Given the description of an element on the screen output the (x, y) to click on. 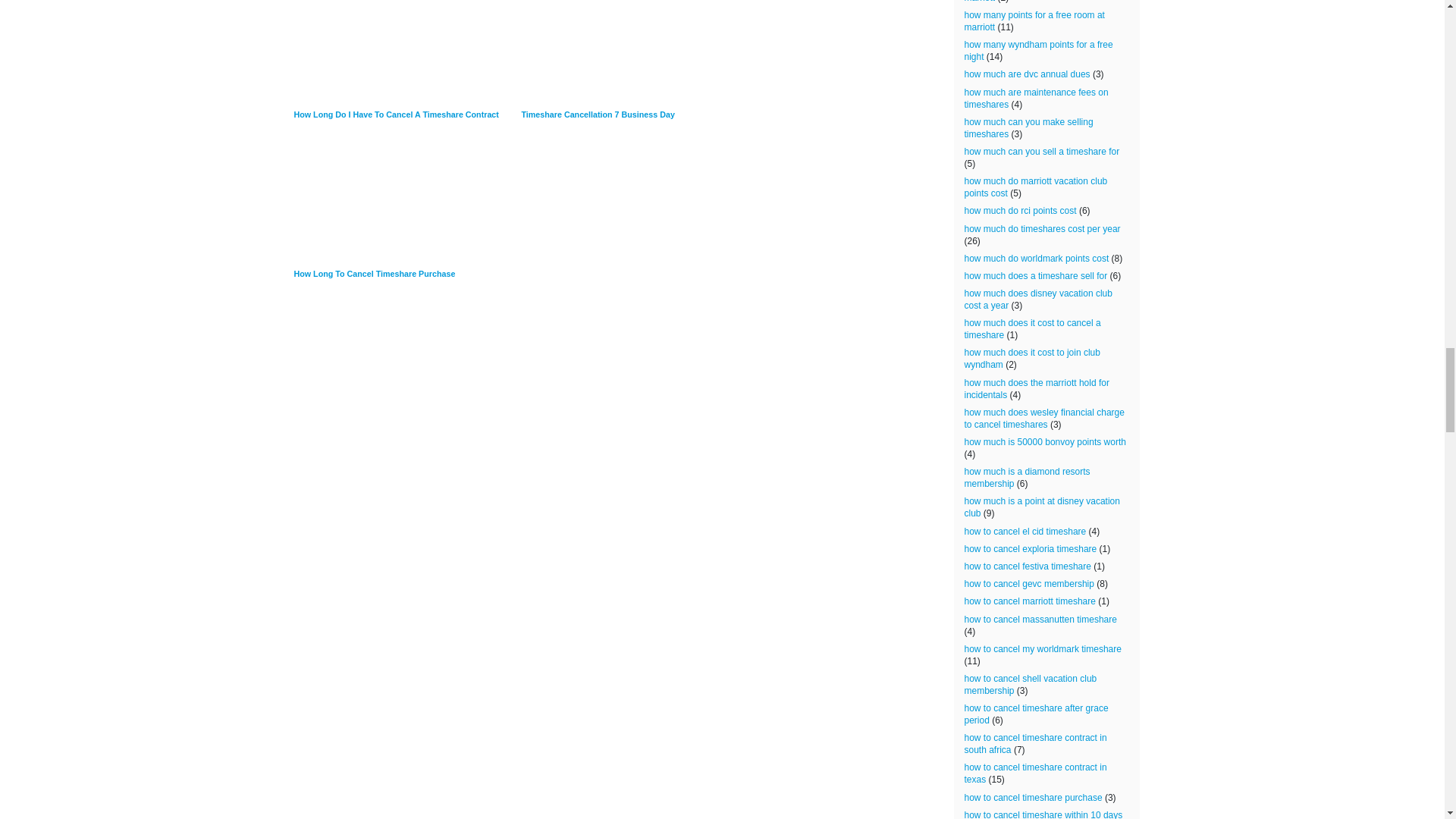
How Long To Cancel Timeshare Purchase (407, 204)
Timeshare Cancellation 7 Business Day (635, 60)
How Long Do I Have To Cancel A Timeshare Contract (407, 60)
